Given the description of an element on the screen output the (x, y) to click on. 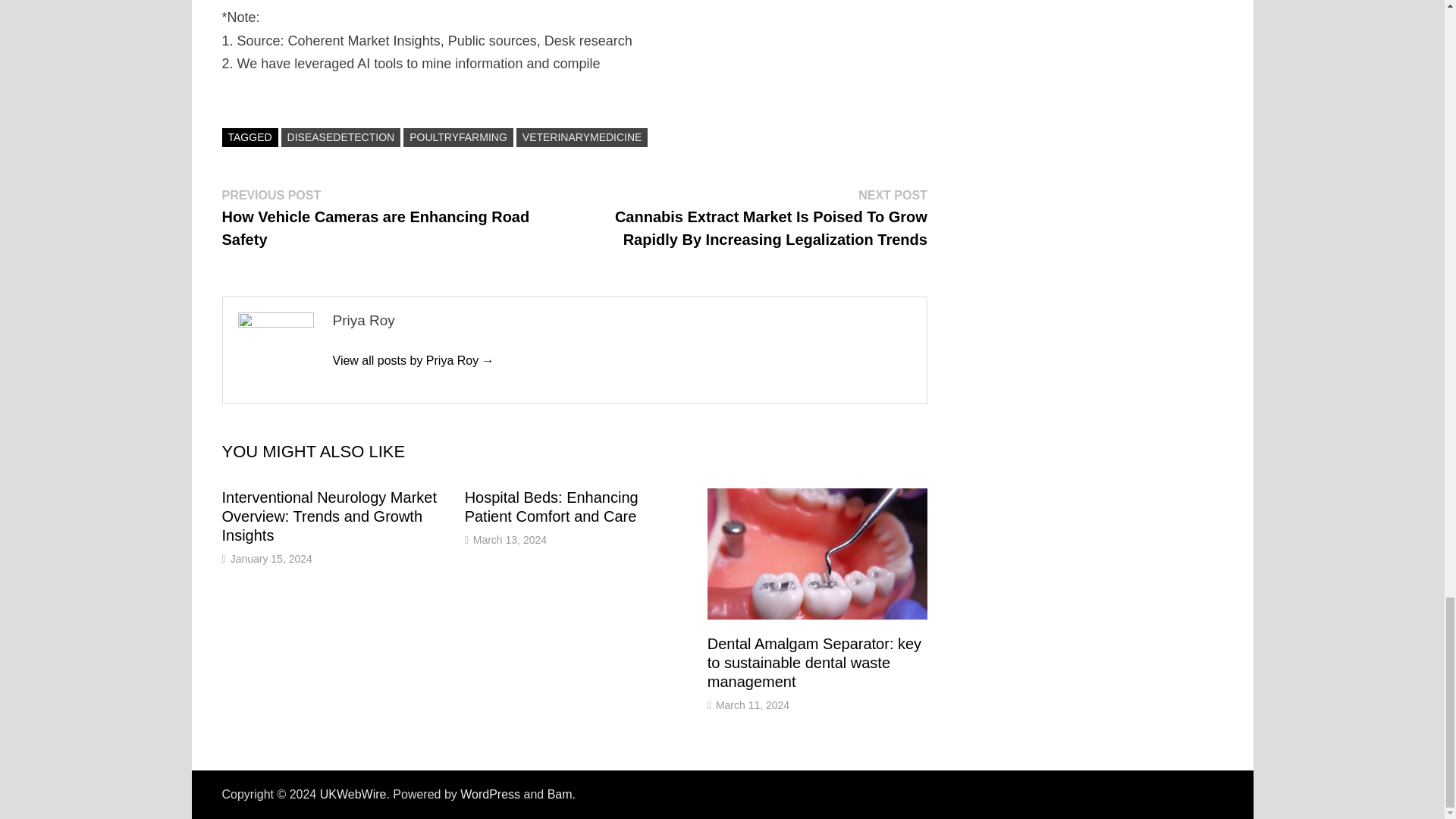
Hospital Beds: Enhancing Patient Comfort and Care (551, 506)
UKWebWire (353, 793)
Priya Roy (412, 359)
